Given the description of an element on the screen output the (x, y) to click on. 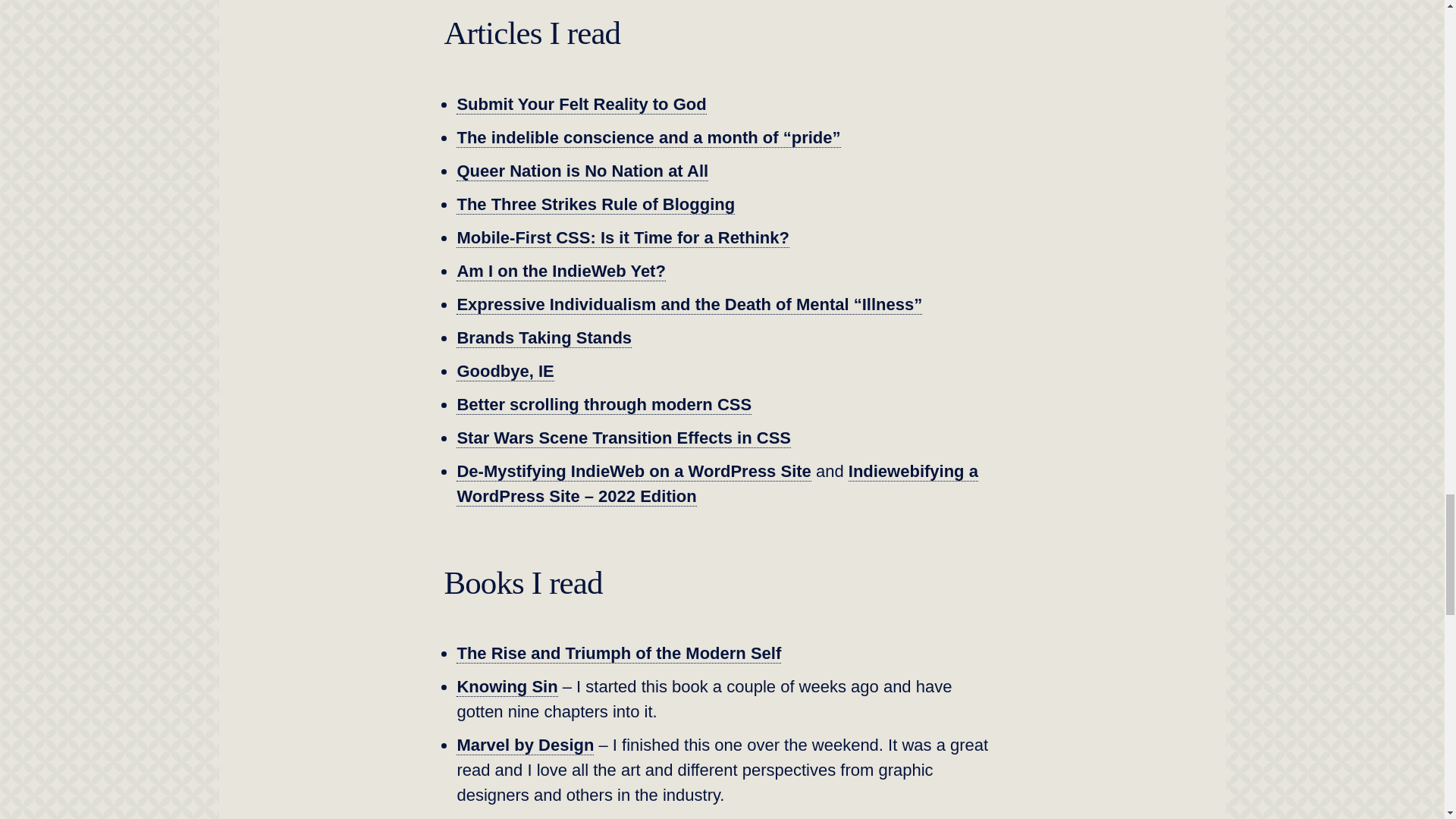
De-Mystifying IndieWeb on a WordPress Site (633, 471)
Submit Your Felt Reality to God (581, 104)
The Three Strikes Rule of Blogging (596, 204)
Queer Nation is No Nation at All (582, 170)
Star Wars Scene Transition Effects in CSS (623, 437)
Mobile-First CSS: Is it Time for a Rethink? (623, 238)
Am I on the IndieWeb Yet? (561, 271)
Goodbye, IE (505, 371)
Brands Taking Stands (544, 338)
Better scrolling through modern CSS (604, 404)
